Given the description of an element on the screen output the (x, y) to click on. 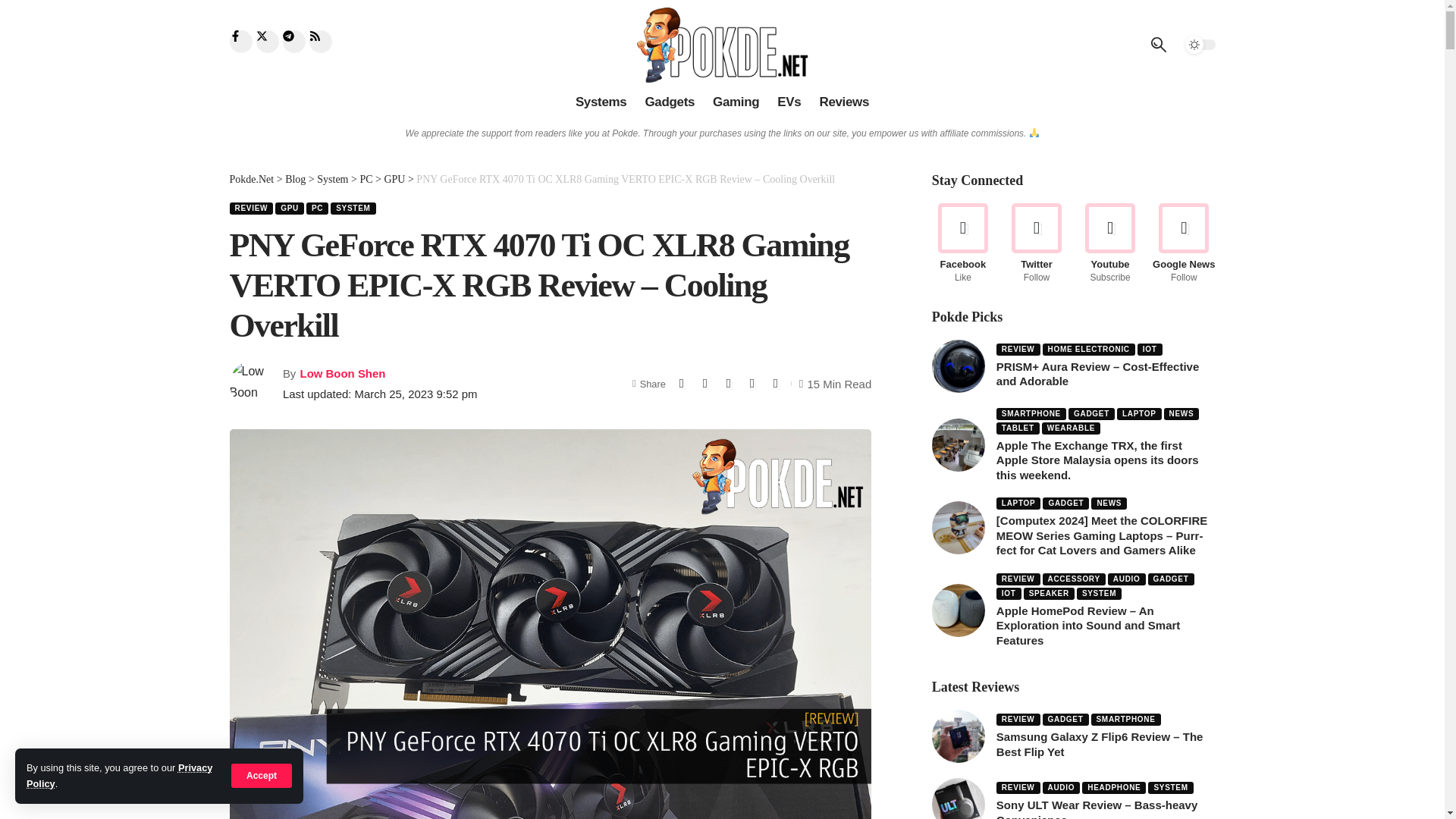
Systems (601, 102)
Gaming (735, 102)
Go to Blog. (295, 179)
Accept (261, 775)
Gadgets (668, 102)
Privacy Policy (119, 775)
Go to the PC Category archives. (365, 179)
Reviews (843, 102)
EVs (788, 102)
Go to Pokde.Net. (250, 179)
Go to the System Category archives. (332, 179)
